Given the description of an element on the screen output the (x, y) to click on. 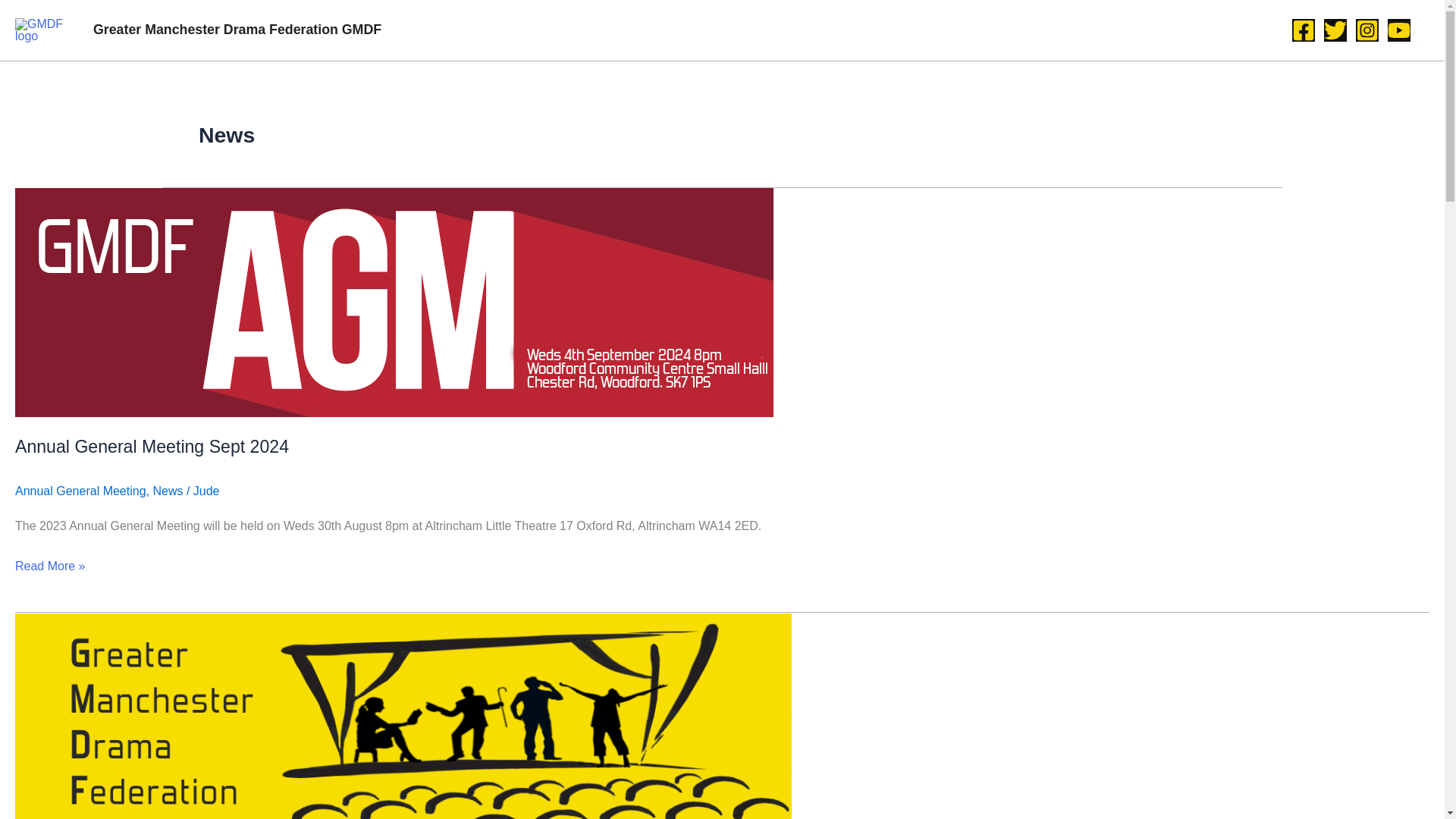
Greater Manchester Drama Federation GMDF (237, 29)
View all posts by Jude (206, 490)
